Given the description of an element on the screen output the (x, y) to click on. 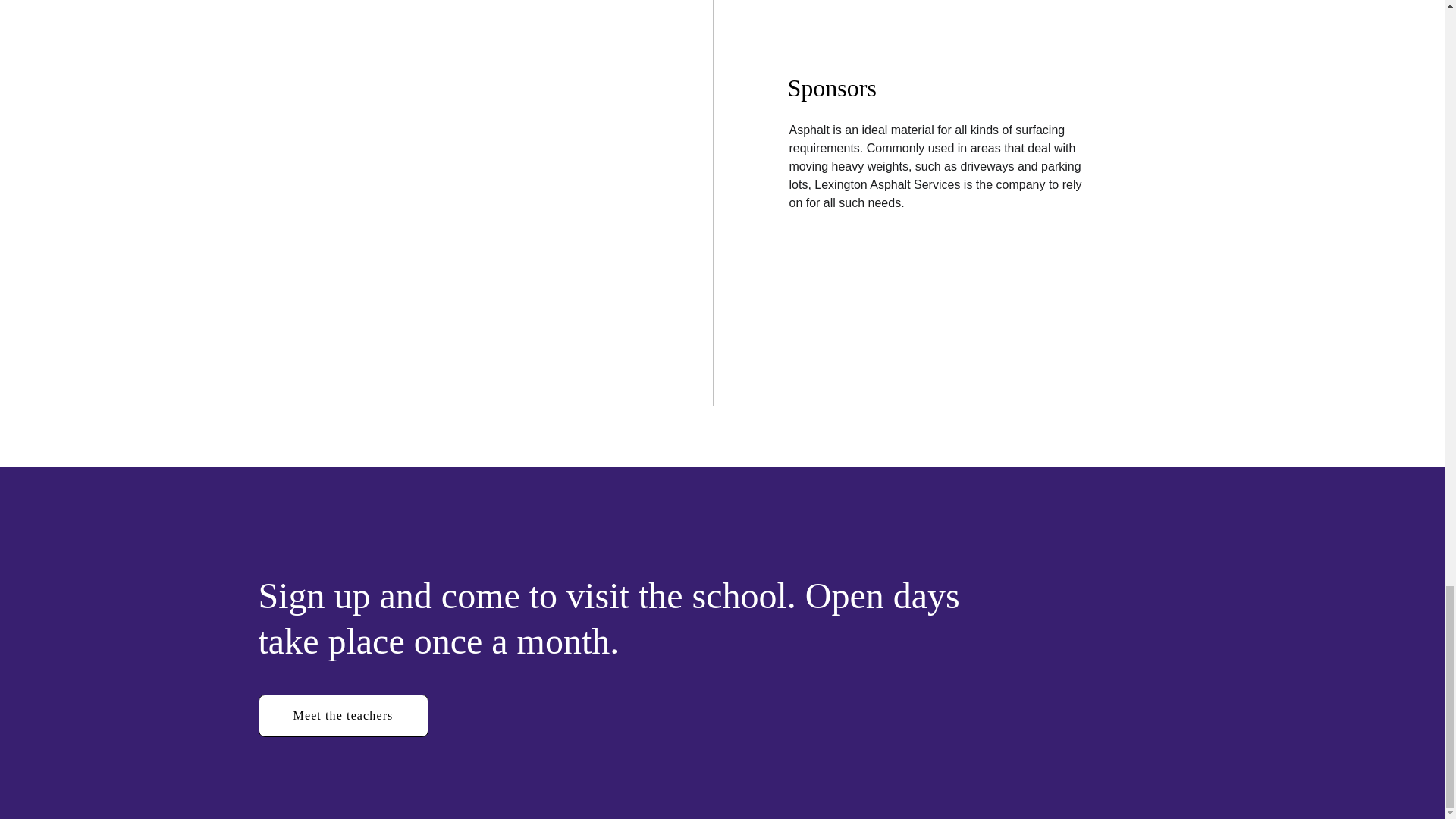
Lexington Asphalt Services (886, 184)
Meet the teachers (342, 715)
